Given the description of an element on the screen output the (x, y) to click on. 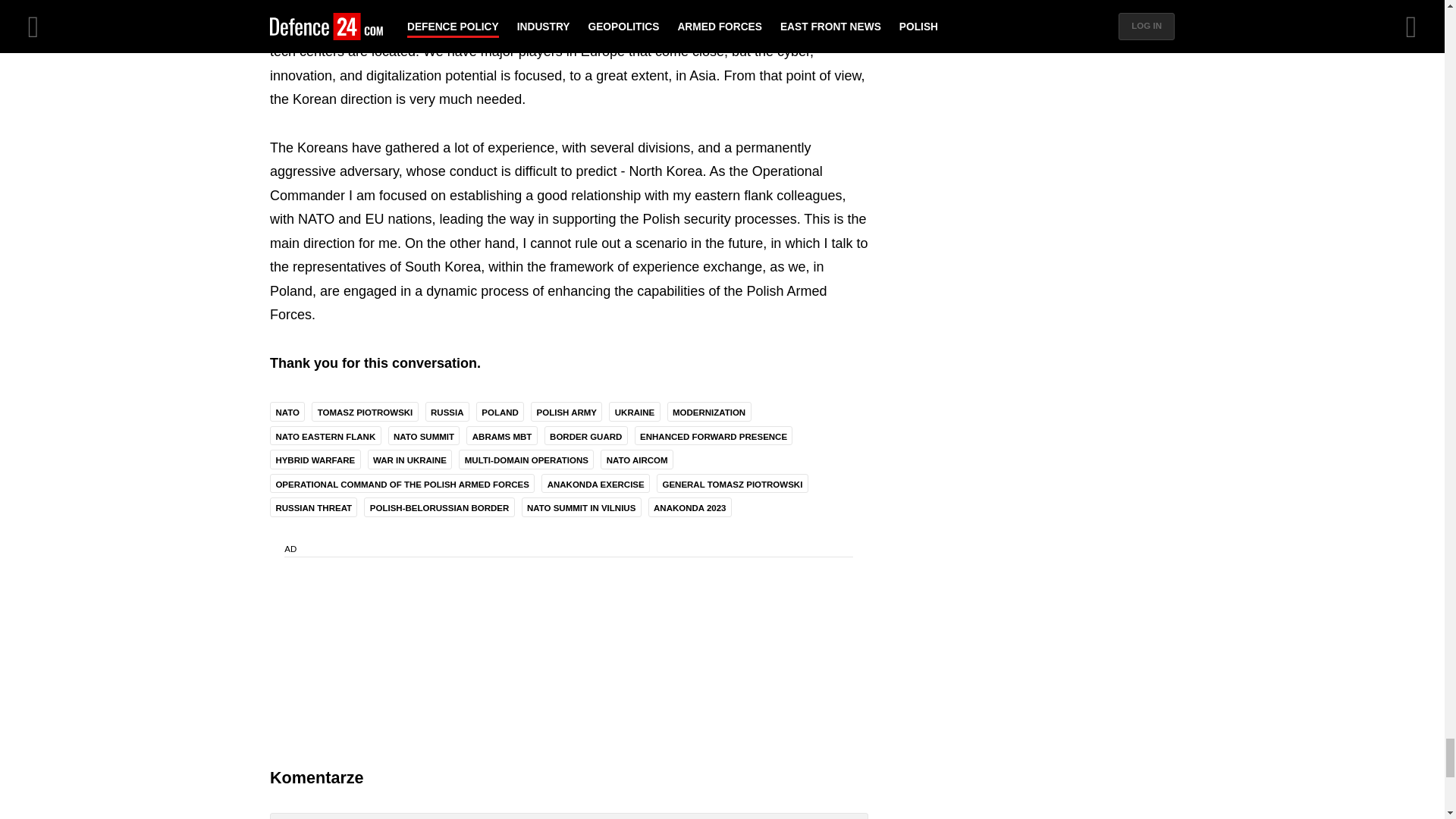
ENHANCED FORWARD PRESENCE (713, 435)
UKRAINE (633, 410)
POLISH ARMY (566, 410)
NATO (286, 410)
POLAND (500, 410)
NATO SUMMIT (424, 435)
TOMASZ PIOTROWSKI (364, 410)
RUSSIA (446, 410)
HYBRID WARFARE (315, 458)
MODERNIZATION (708, 410)
